Given the description of an element on the screen output the (x, y) to click on. 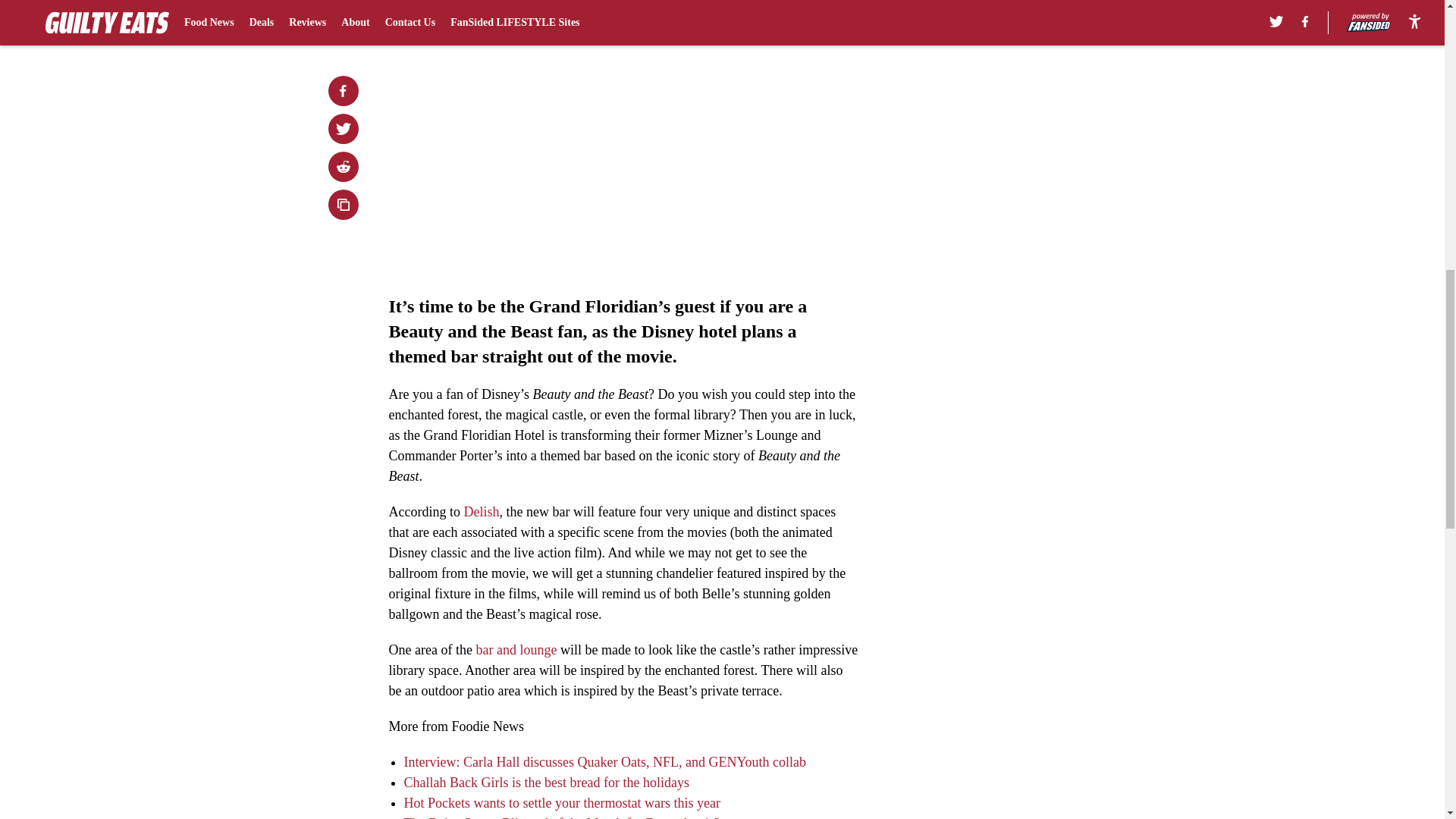
Challah Back Girls is the best bread for the holidays (545, 782)
bar and lounge (516, 649)
Hot Pockets wants to settle your thermostat wars this year (561, 802)
Delish (481, 511)
